Given the description of an element on the screen output the (x, y) to click on. 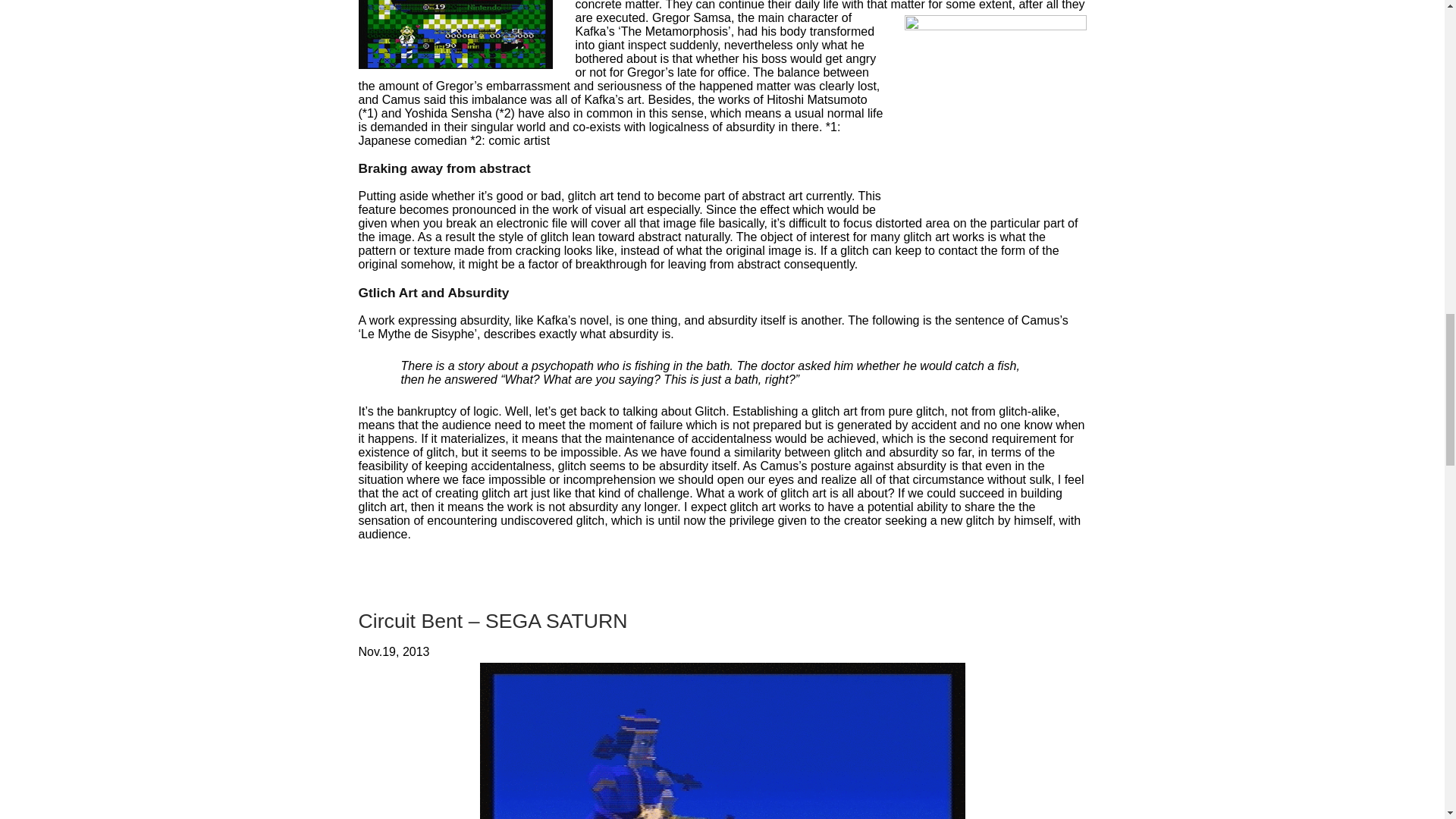
Kafka - Metamorphosis and Other Stories (995, 106)
